Given the description of an element on the screen output the (x, y) to click on. 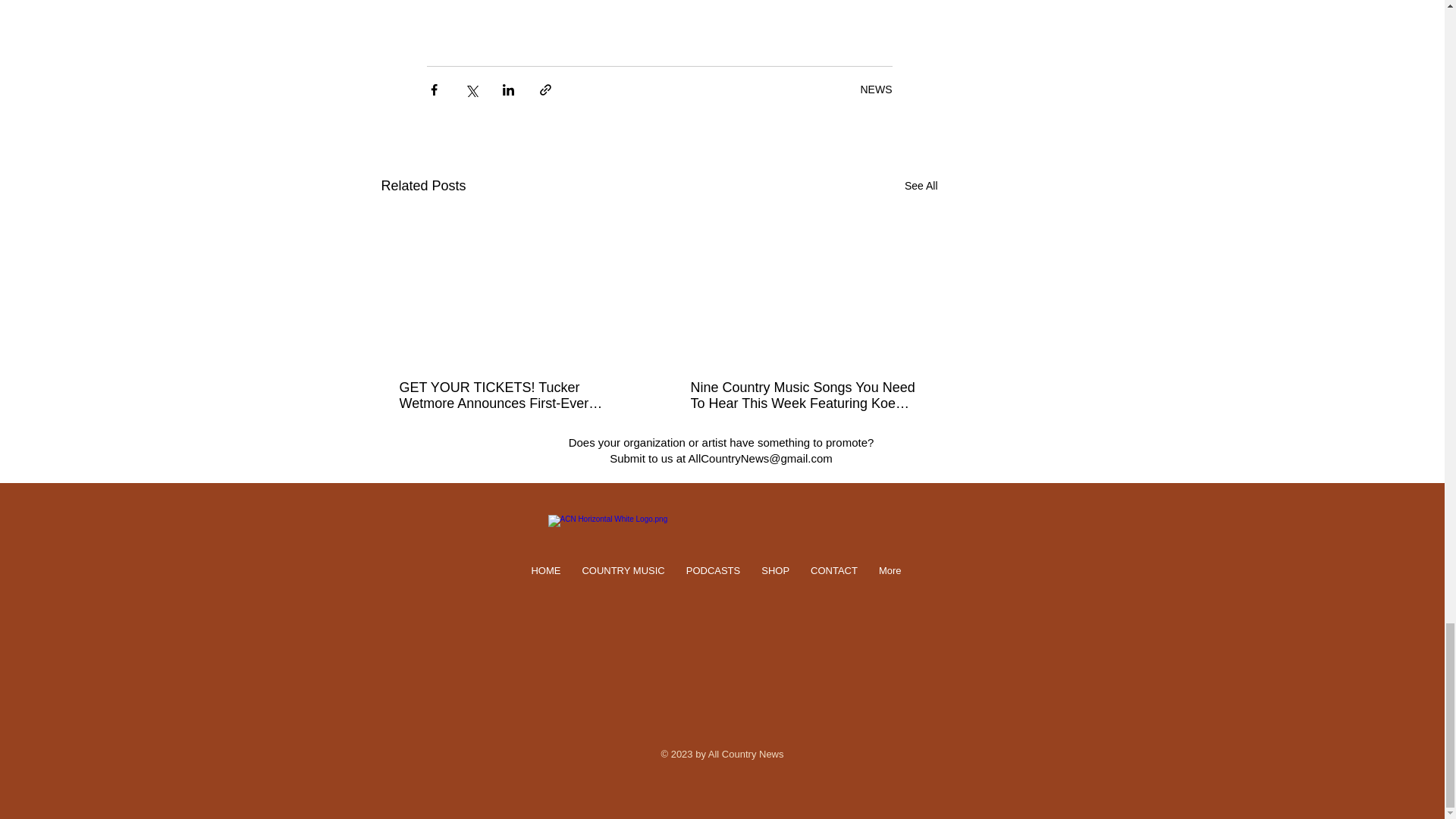
NEWS (875, 89)
HOME (544, 583)
See All (920, 186)
COUNTRY MUSIC (622, 583)
